Given the description of an element on the screen output the (x, y) to click on. 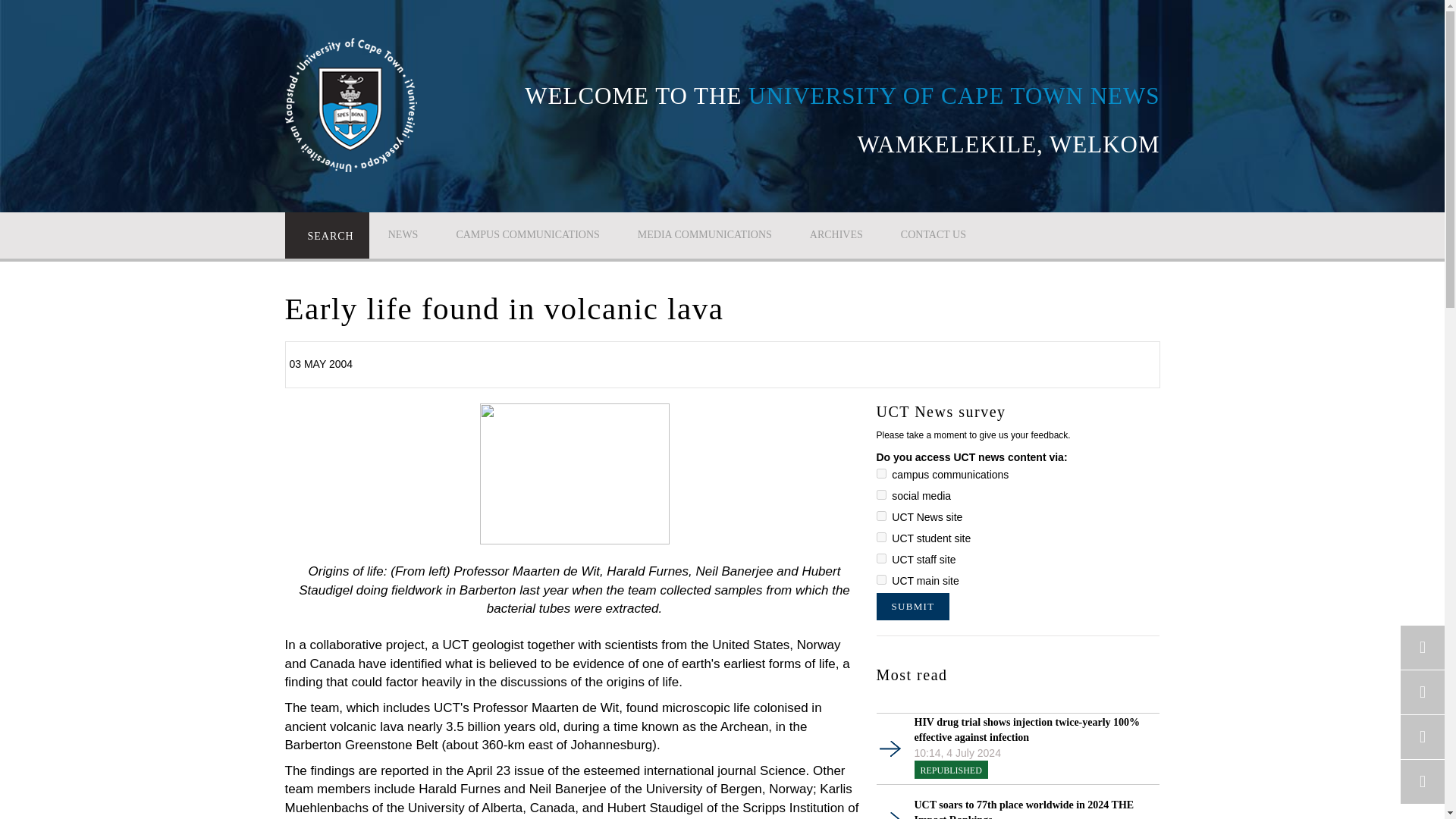
ARCHIVES (836, 234)
24 (881, 558)
21 (881, 494)
NEWS (403, 234)
23 (881, 537)
SEARCH (327, 235)
CONTACT US (933, 234)
22 (881, 515)
20 (881, 473)
CAMPUS COMMUNICATIONS (526, 234)
25 (881, 579)
SUBMIT (913, 605)
MEDIA COMMUNICATIONS (704, 234)
